Given the description of an element on the screen output the (x, y) to click on. 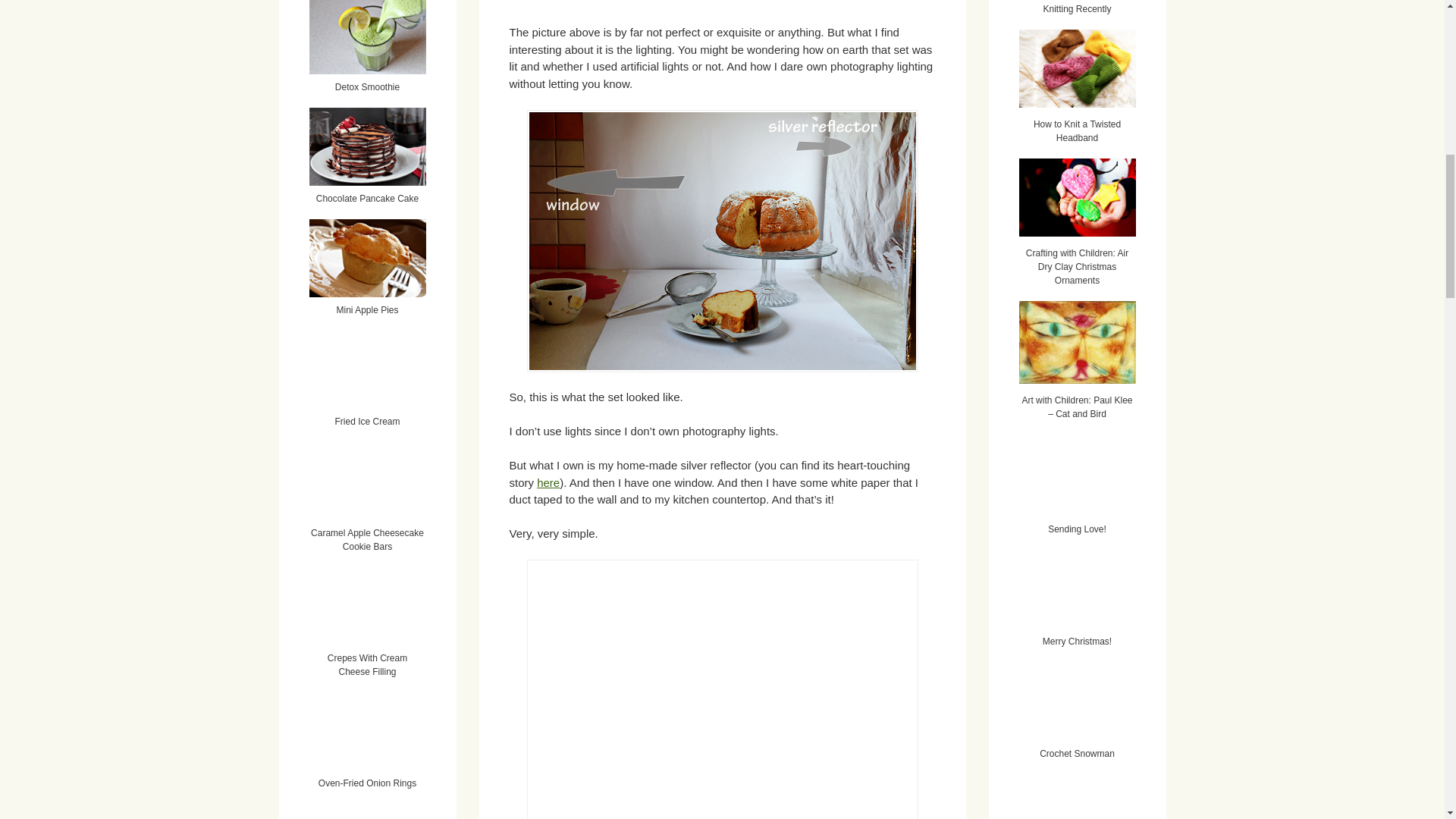
here (548, 481)
bundt-cake-set (721, 240)
bundt-cake-set-sooc (721, 689)
